Given the description of an element on the screen output the (x, y) to click on. 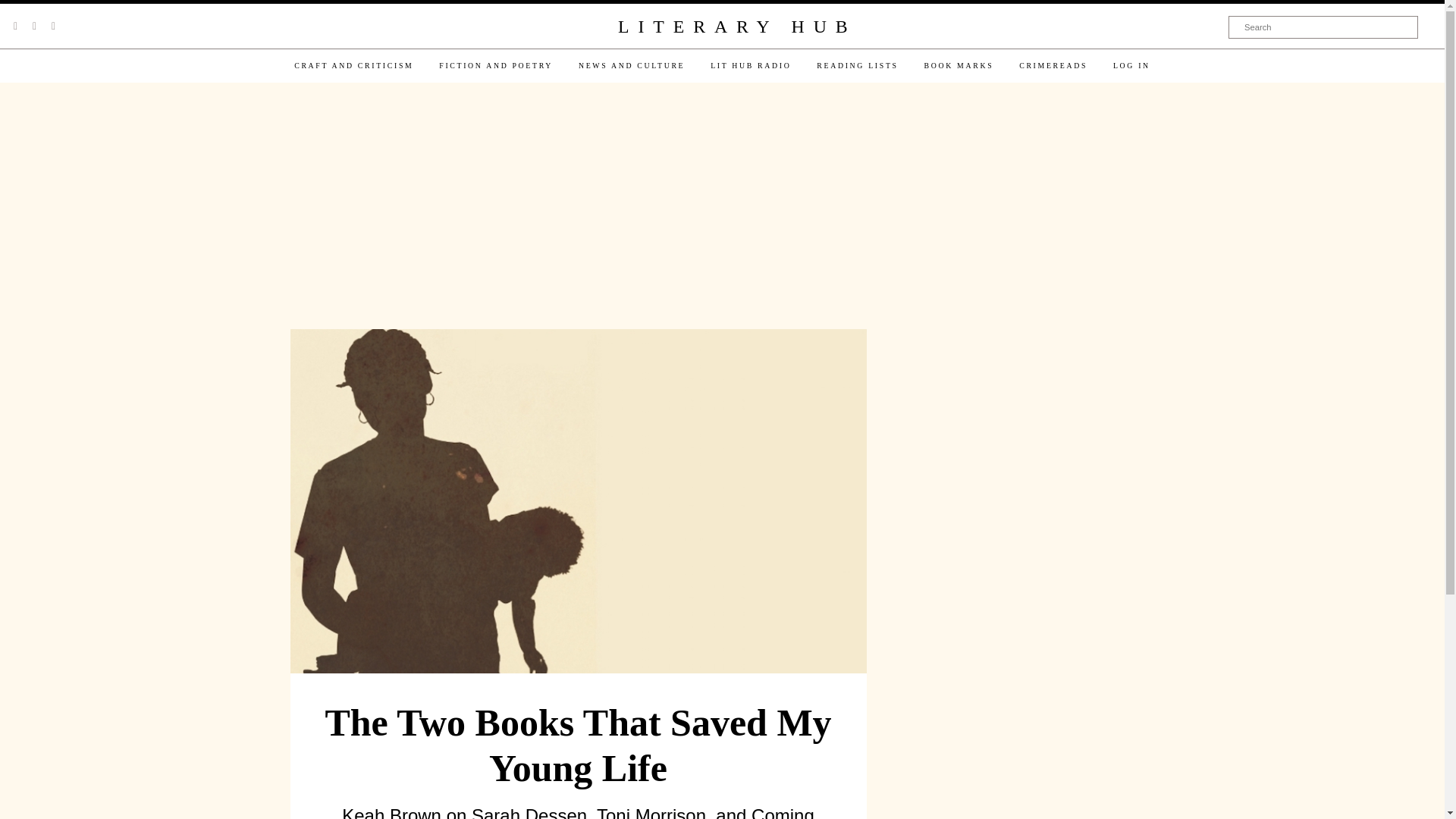
CRAFT AND CRITICISM (353, 65)
Search (1323, 26)
NEWS AND CULTURE (631, 65)
FICTION AND POETRY (496, 65)
LITERARY HUB (736, 26)
